Given the description of an element on the screen output the (x, y) to click on. 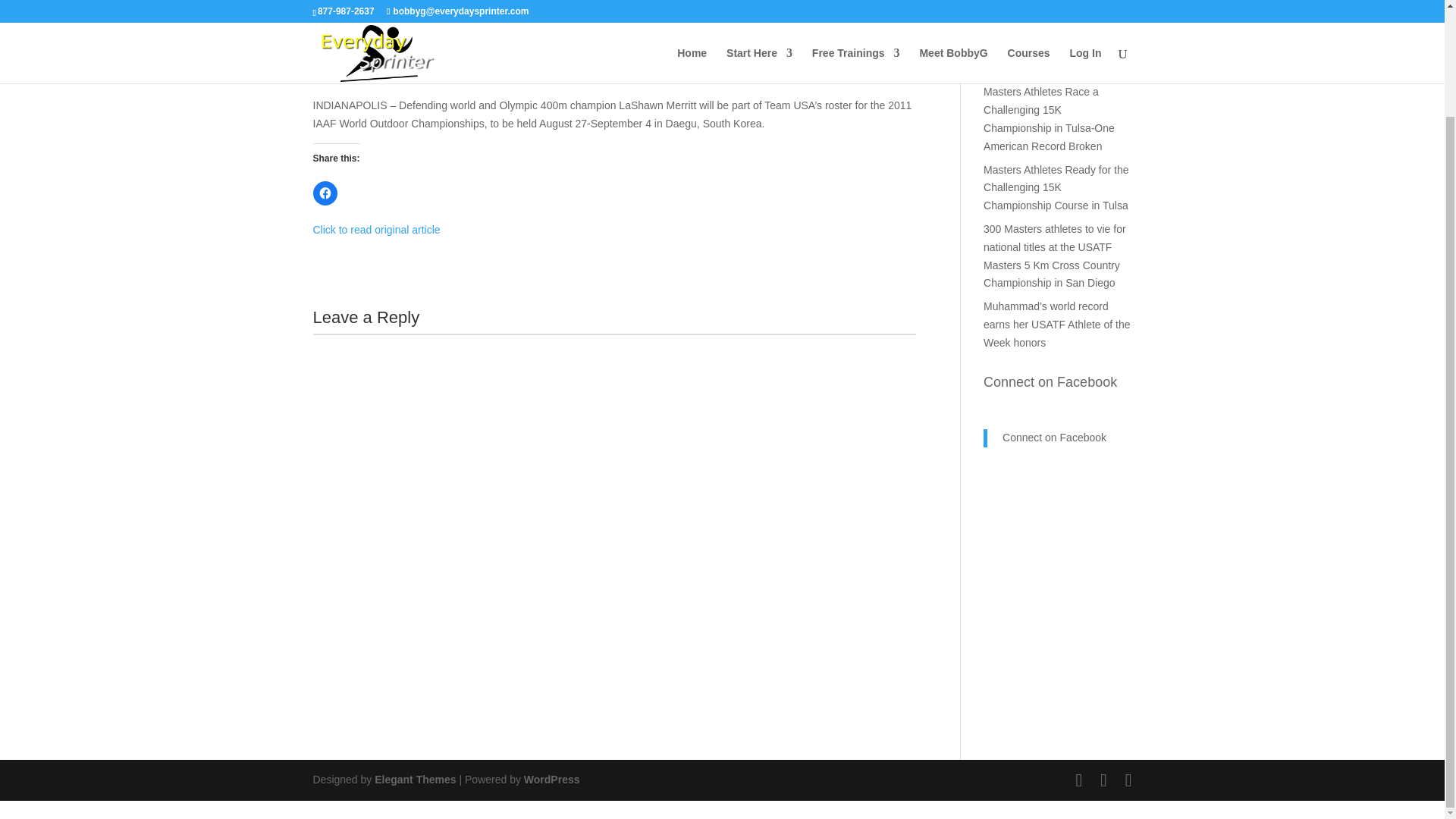
Elegant Themes (414, 779)
South Korea (601, 41)
Premium WordPress Themes (414, 779)
Bob Griffiths (355, 41)
Connect on Facebook (1050, 381)
Click to read original article (376, 229)
Click to share on Facebook (324, 192)
